Given the description of an element on the screen output the (x, y) to click on. 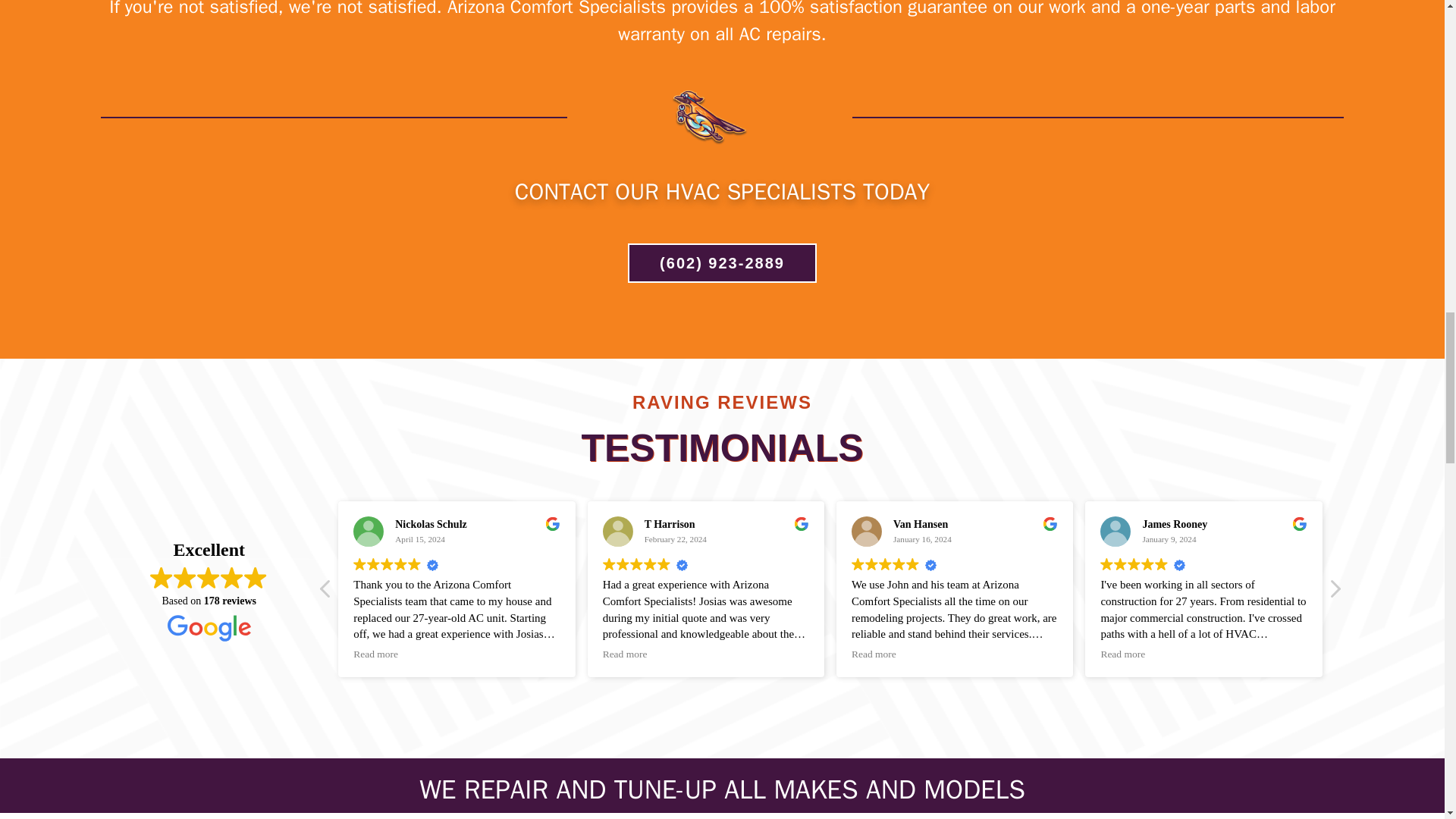
ROADRUNNER-RUN-ACROSS (709, 117)
